Given the description of an element on the screen output the (x, y) to click on. 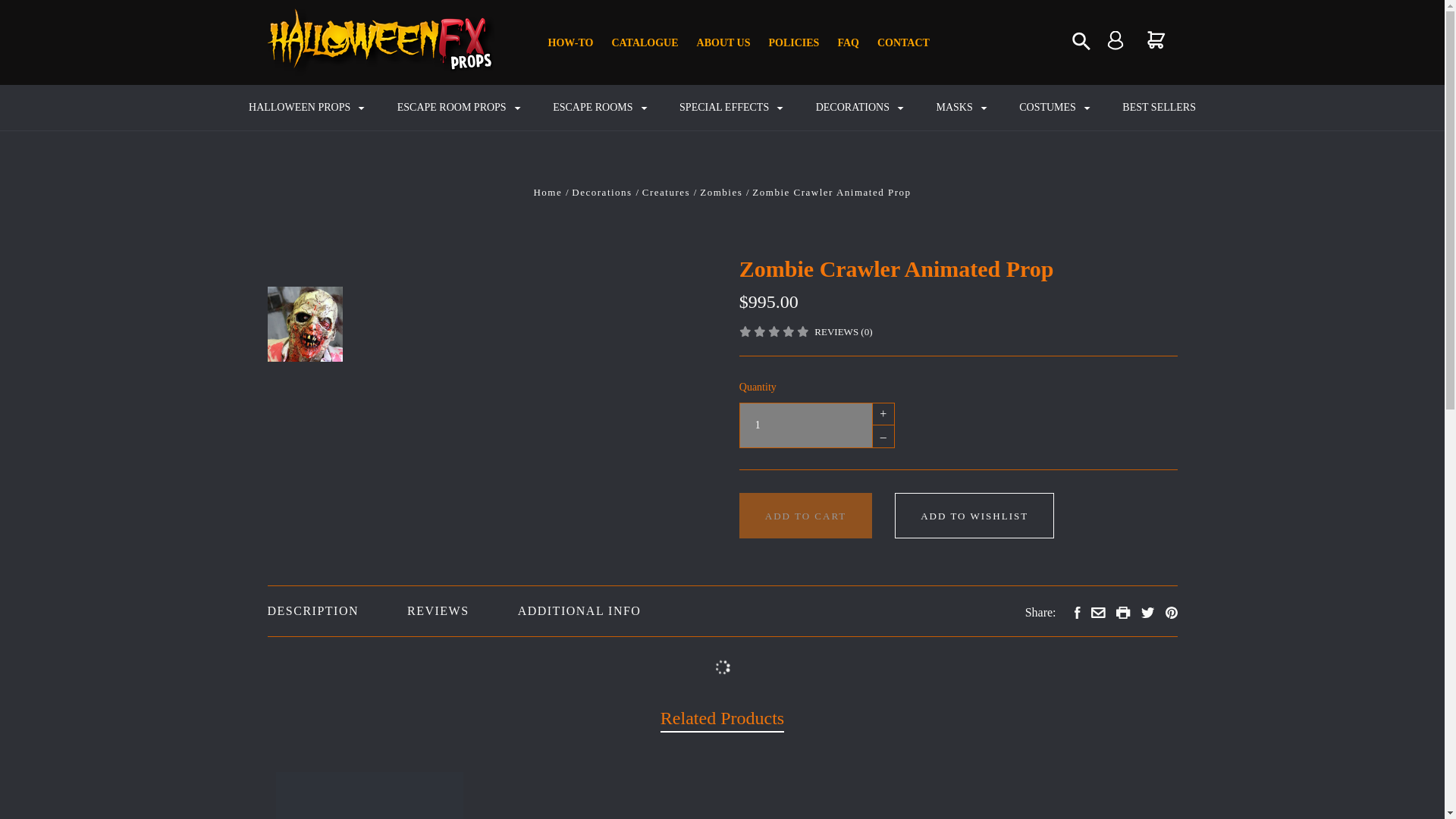
background Layer 1 (1114, 38)
CATALOGUE (644, 42)
background Layer 1 (1156, 39)
HOW-TO (1156, 40)
email (569, 42)
ABOUT US (1097, 612)
background Layer 1 (723, 42)
1 (1114, 40)
HALLOWEEN PROPS (805, 424)
POLICIES (307, 108)
background Layer 1 (794, 42)
CONTACT (1080, 40)
printer (903, 42)
background Layer 1 (1123, 612)
